Given the description of an element on the screen output the (x, y) to click on. 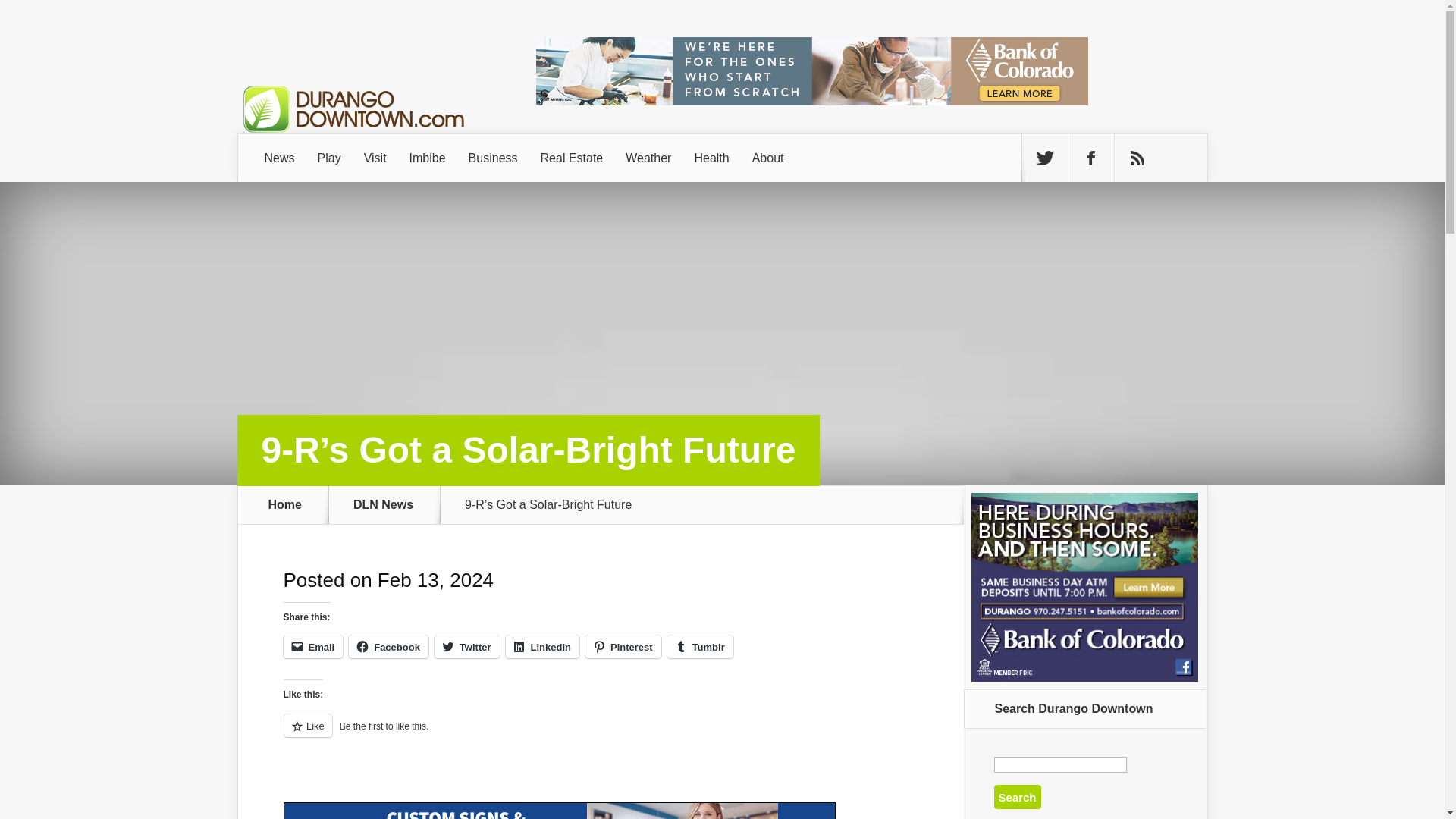
Click to share on Pinterest (623, 646)
Click to share on Facebook (388, 646)
Click to share on Twitter (466, 646)
Click to share on Tumblr (699, 646)
Click to email a link to a friend (313, 646)
Click to share on LinkedIn (542, 646)
Search (1016, 796)
bank of colorado (811, 70)
Like or Reblog (600, 734)
